Given the description of an element on the screen output the (x, y) to click on. 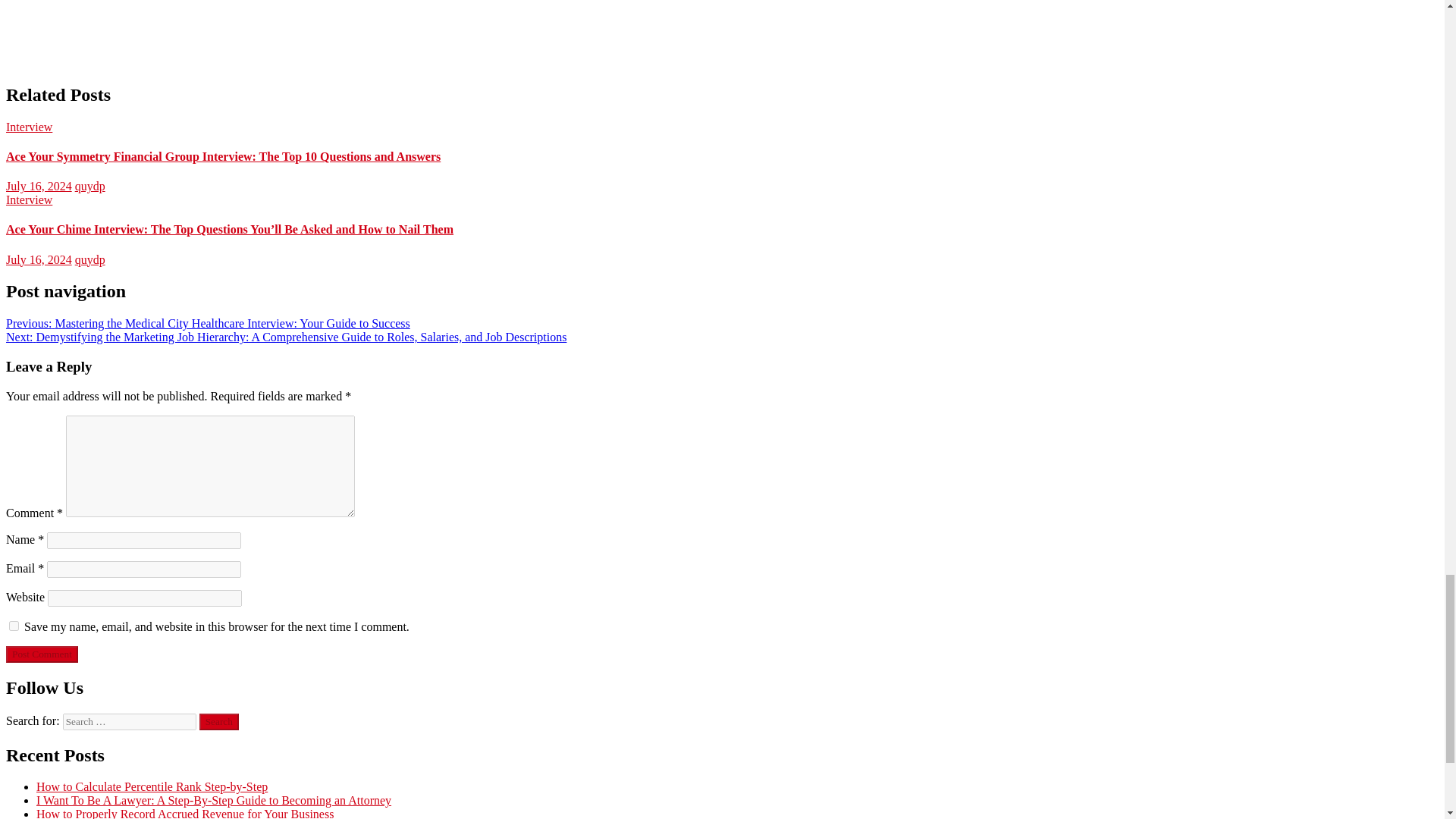
quydp (89, 185)
Post Comment (41, 654)
Interview (28, 199)
Post Comment (41, 654)
yes (13, 625)
July 16, 2024 (38, 259)
Search (218, 721)
